Given the description of an element on the screen output the (x, y) to click on. 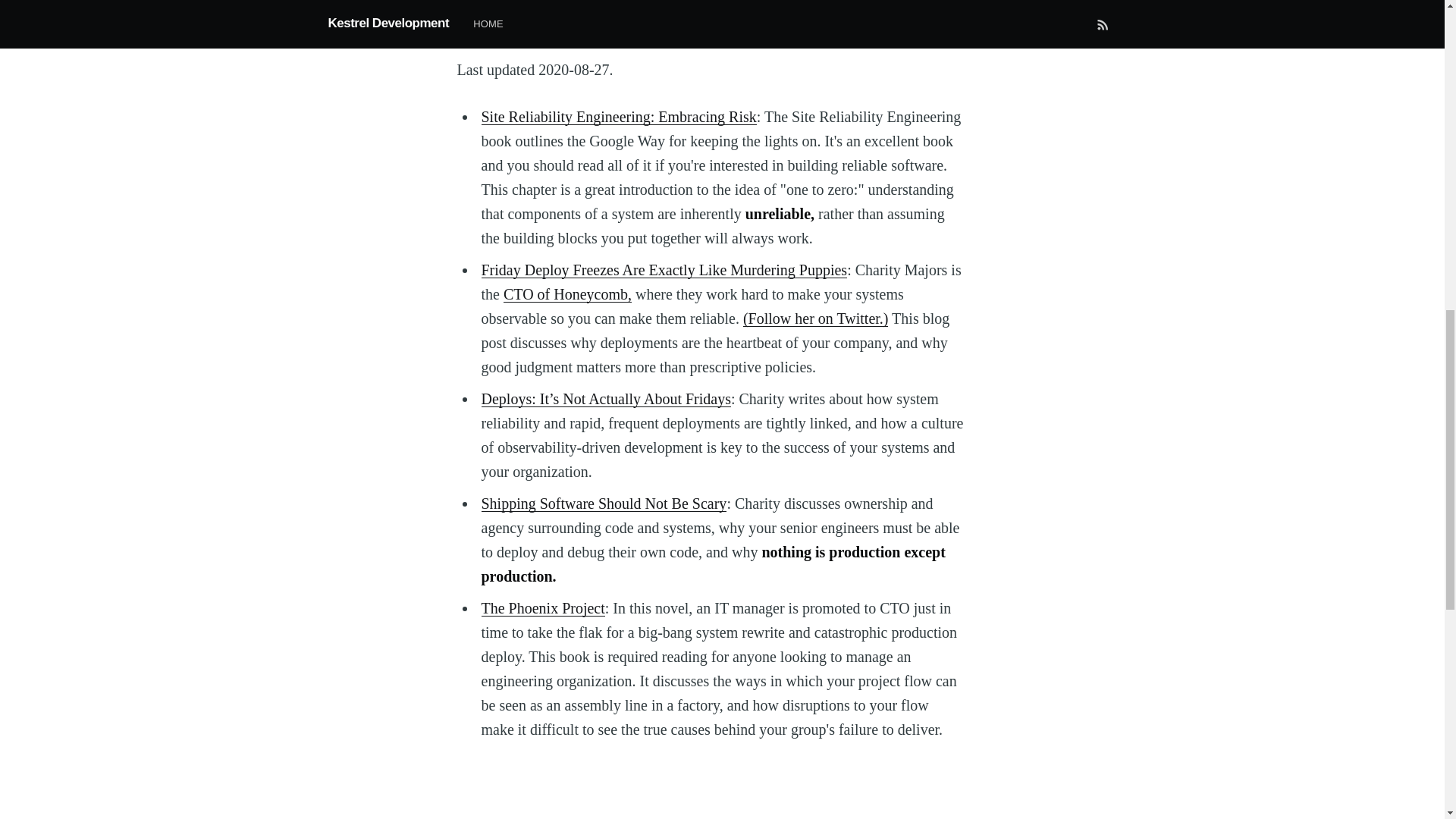
The Phoenix Project (542, 606)
Friday Deploy Freezes Are Exactly Like Murdering Puppies (663, 269)
Shipping Software Should Not Be Scary (603, 502)
CTO of Honeycomb, (567, 293)
Site Reliability Engineering: Embracing Risk (617, 115)
